Given the description of an element on the screen output the (x, y) to click on. 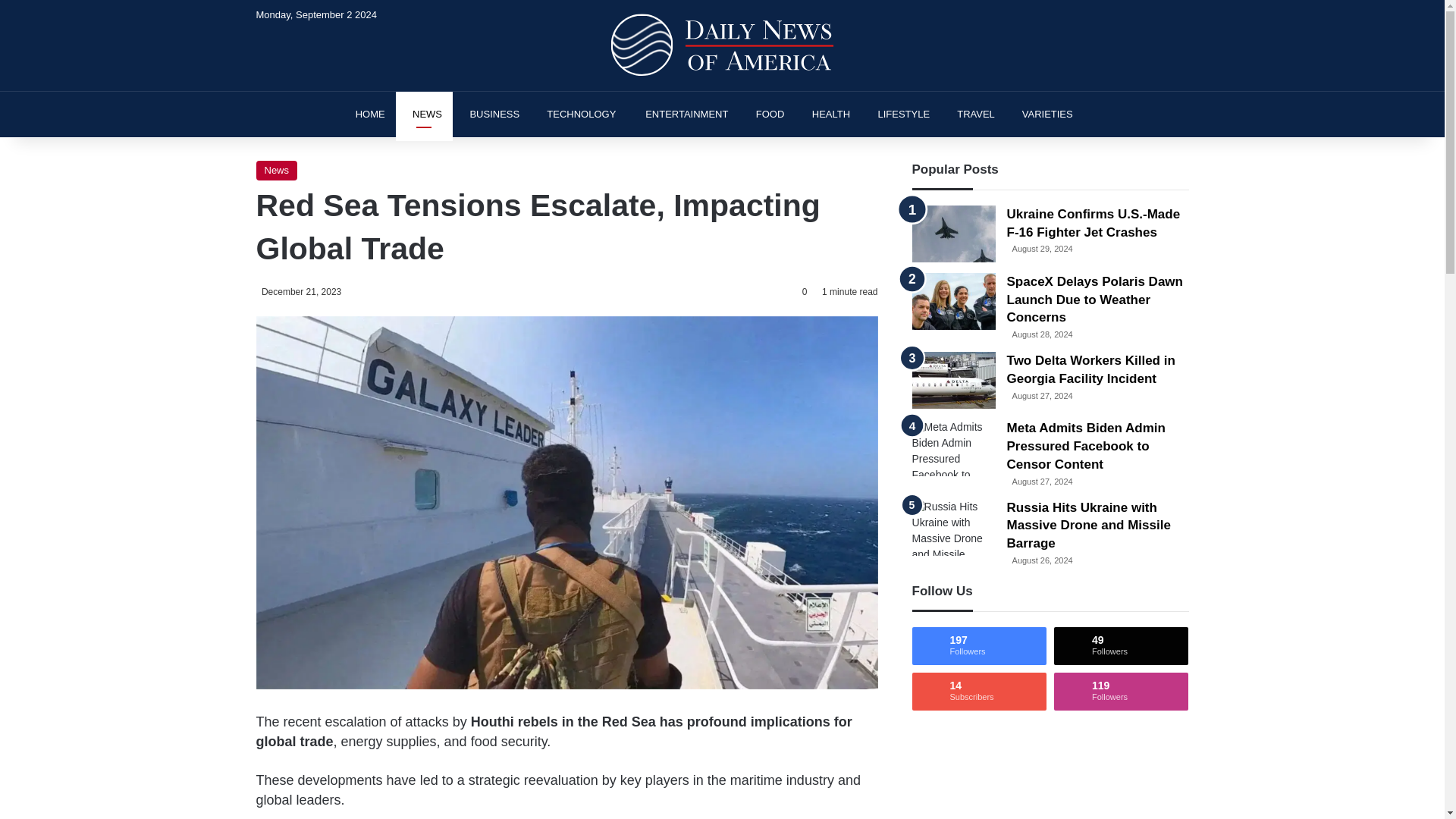
TRAVEL (973, 114)
VARIETIES (1044, 114)
BUSINESS (490, 114)
Daily News of America (722, 45)
HOME (365, 114)
ENTERTAINMENT (682, 114)
News (277, 170)
FOOD (766, 114)
LIFESTYLE (900, 114)
NEWS (424, 114)
